Given the description of an element on the screen output the (x, y) to click on. 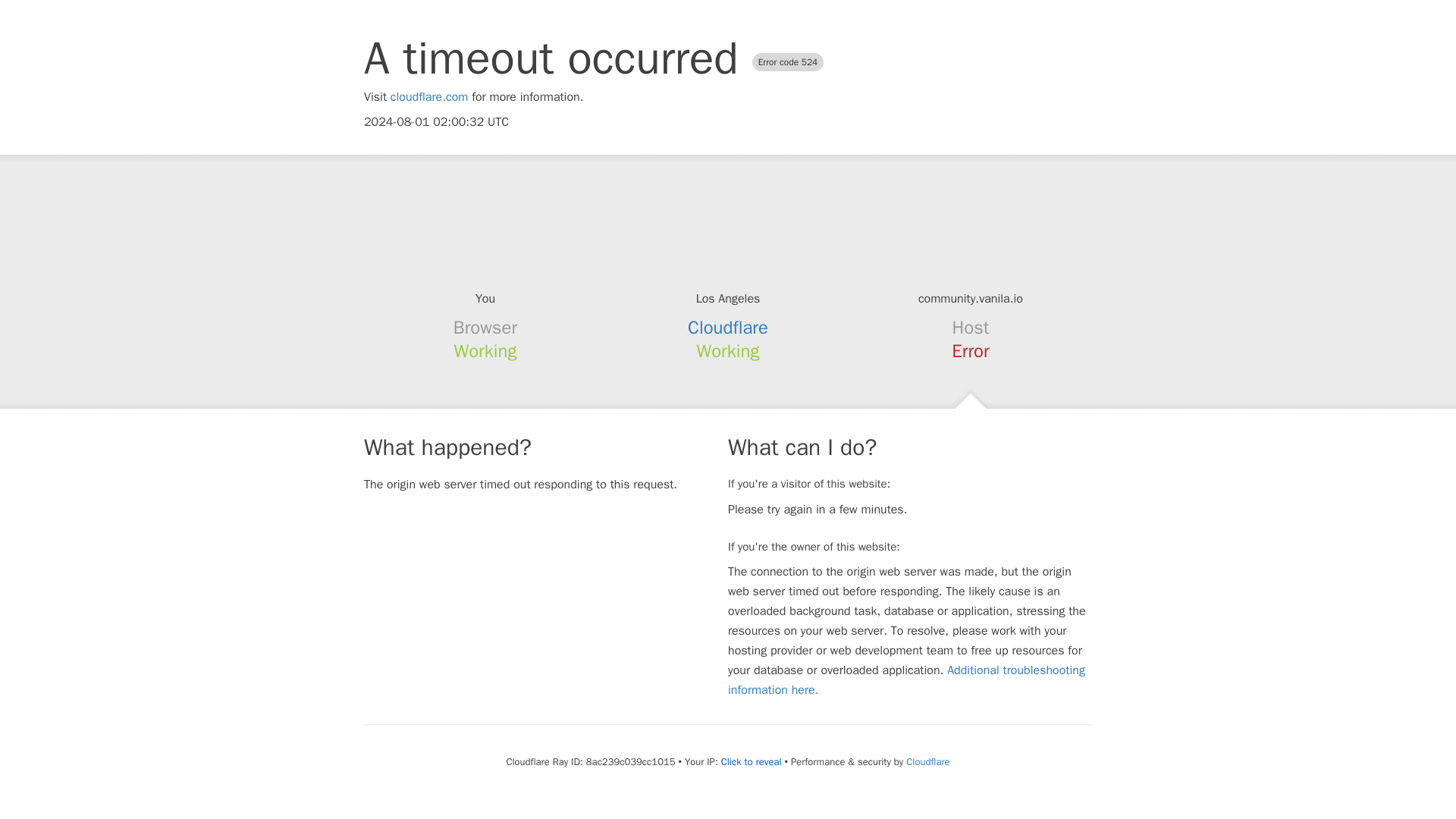
Cloudflare (927, 761)
cloudflare.com (429, 96)
Additional troubleshooting information here. (906, 679)
Cloudflare (727, 327)
Click to reveal (750, 762)
